Given the description of an element on the screen output the (x, y) to click on. 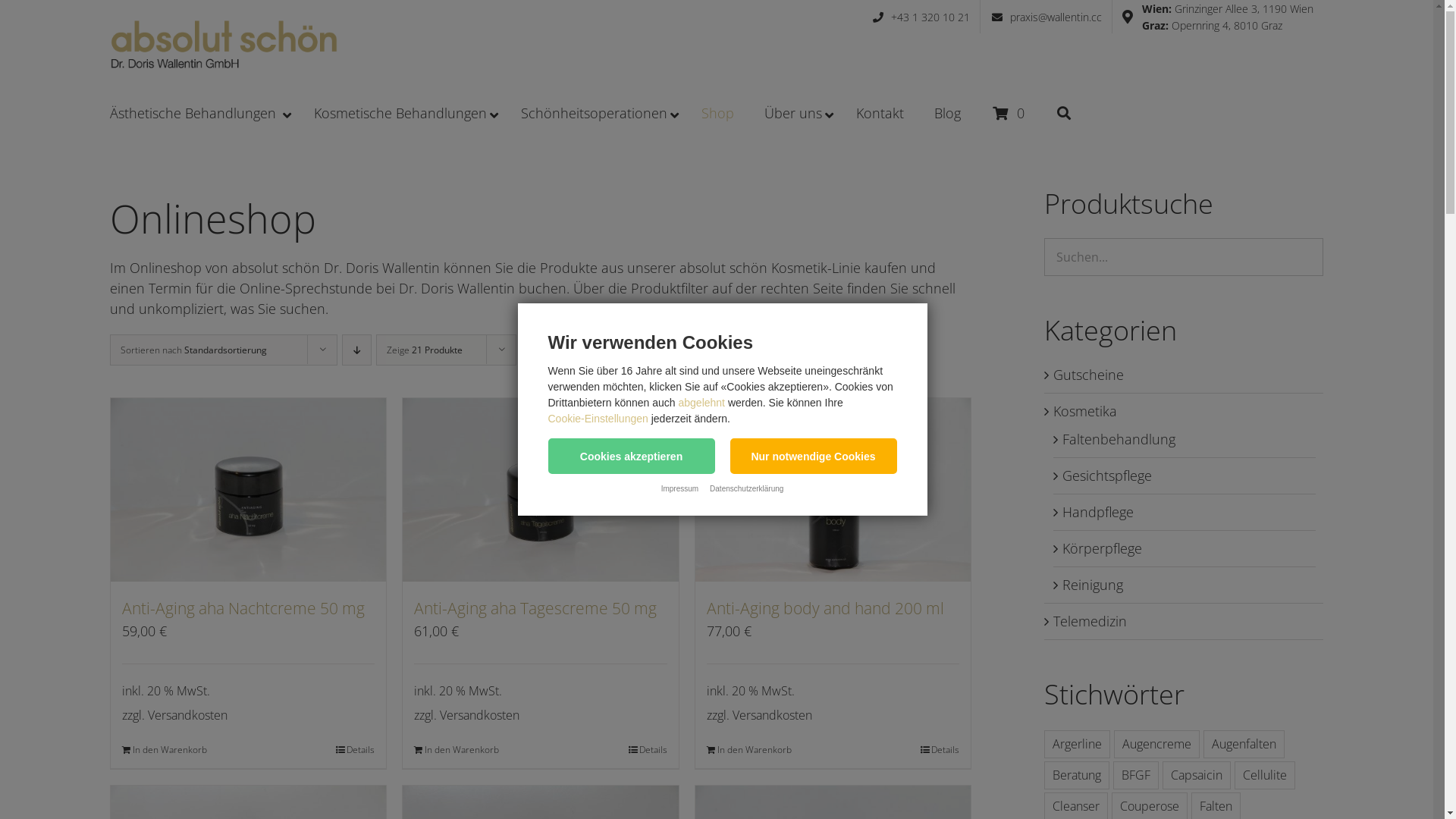
Versandkosten Element type: text (479, 714)
Versandkosten Element type: text (772, 714)
Zeige 21 Produkte Element type: text (424, 349)
In den Warenkorb Element type: text (748, 749)
Augenfalten Element type: text (1243, 744)
Details Element type: text (939, 749)
Nur notwendige Cookies Element type: text (812, 455)
0 Element type: text (1007, 113)
Sortieren nach Standardsortierung Element type: text (193, 349)
Kontakt Element type: text (879, 113)
Shop Element type: text (717, 113)
Impressum Element type: text (679, 488)
Argerline Element type: text (1077, 744)
Details Element type: text (354, 749)
Versandkosten Element type: text (187, 714)
Anti-Aging body and hand 200 ml Element type: text (825, 607)
Beratung Element type: text (1076, 775)
Capsaicin Element type: text (1196, 775)
In den Warenkorb Element type: text (456, 749)
praxis@wallentin.cc Element type: text (1045, 16)
Gutscheine Element type: text (1088, 374)
Anti-Aging aha Tagescreme 50 mg Element type: text (535, 607)
Wien: Grinzinger Allee 3, 1190 Wien Element type: text (1227, 8)
Cookies akzeptieren Element type: text (630, 455)
+43 1 320 10 21 Element type: text (920, 16)
abgelehnt Element type: text (700, 402)
Augencreme Element type: text (1156, 744)
Gesichtspflege Element type: text (1106, 475)
Cellulite Element type: text (1264, 775)
Reinigung Element type: text (1092, 584)
Faltenbehandlung Element type: text (1118, 438)
Cookie-Einstellungen Element type: text (597, 418)
BFGF Element type: text (1135, 775)
In den Warenkorb Element type: text (164, 749)
Anti-Aging aha Nachtcreme 50 mg Element type: text (243, 607)
Telemedizin Element type: text (1089, 620)
Graz: Opernring 4, 8010 Graz Element type: text (1227, 24)
Handpflege Element type: text (1097, 511)
Kosmetika Element type: text (1085, 410)
Blog Element type: text (947, 113)
Details Element type: text (647, 749)
